Given the description of an element on the screen output the (x, y) to click on. 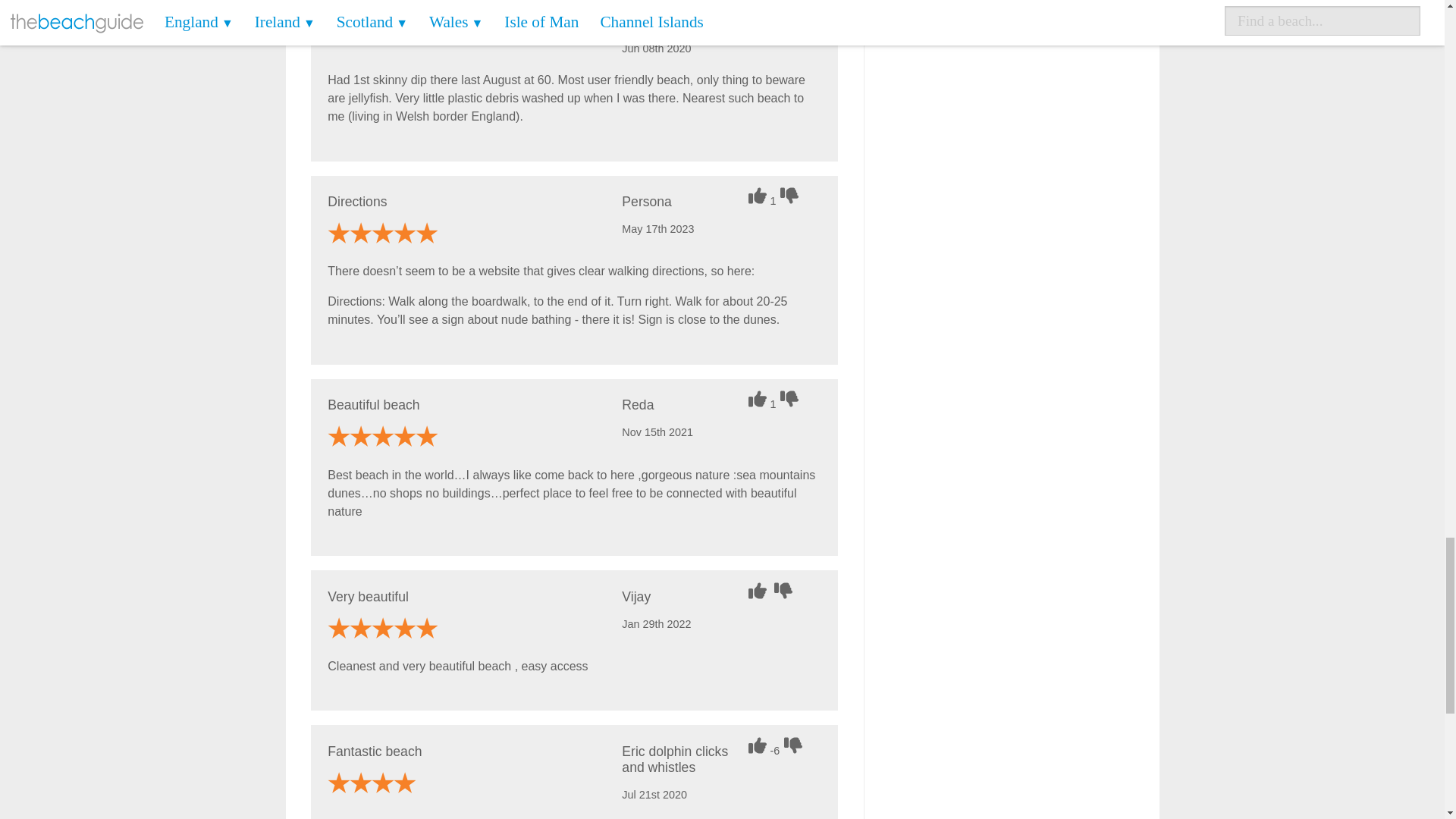
Vote up (759, 398)
Vote up (759, 14)
Vote down (791, 14)
Vote down (795, 745)
Vote up (759, 745)
Vote down (785, 590)
Vote down (791, 398)
Vote up (759, 195)
Vote up (759, 590)
Vote down (791, 195)
